Given the description of an element on the screen output the (x, y) to click on. 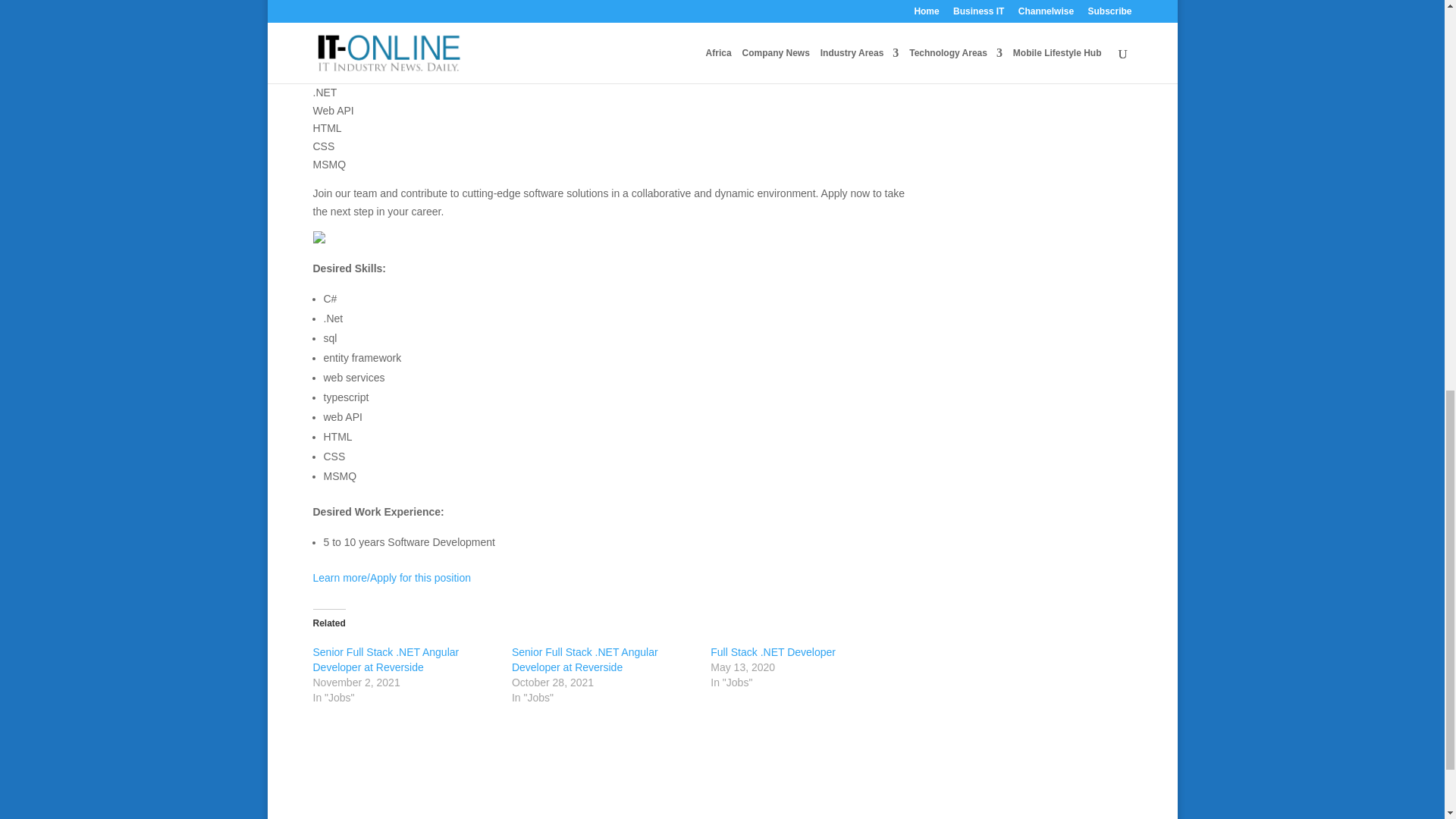
Full Stack .NET Developer (772, 652)
Senior Full Stack .NET Angular Developer at Reverside (585, 659)
Senior Full Stack .NET Angular Developer at Reverside (385, 659)
